Given the description of an element on the screen output the (x, y) to click on. 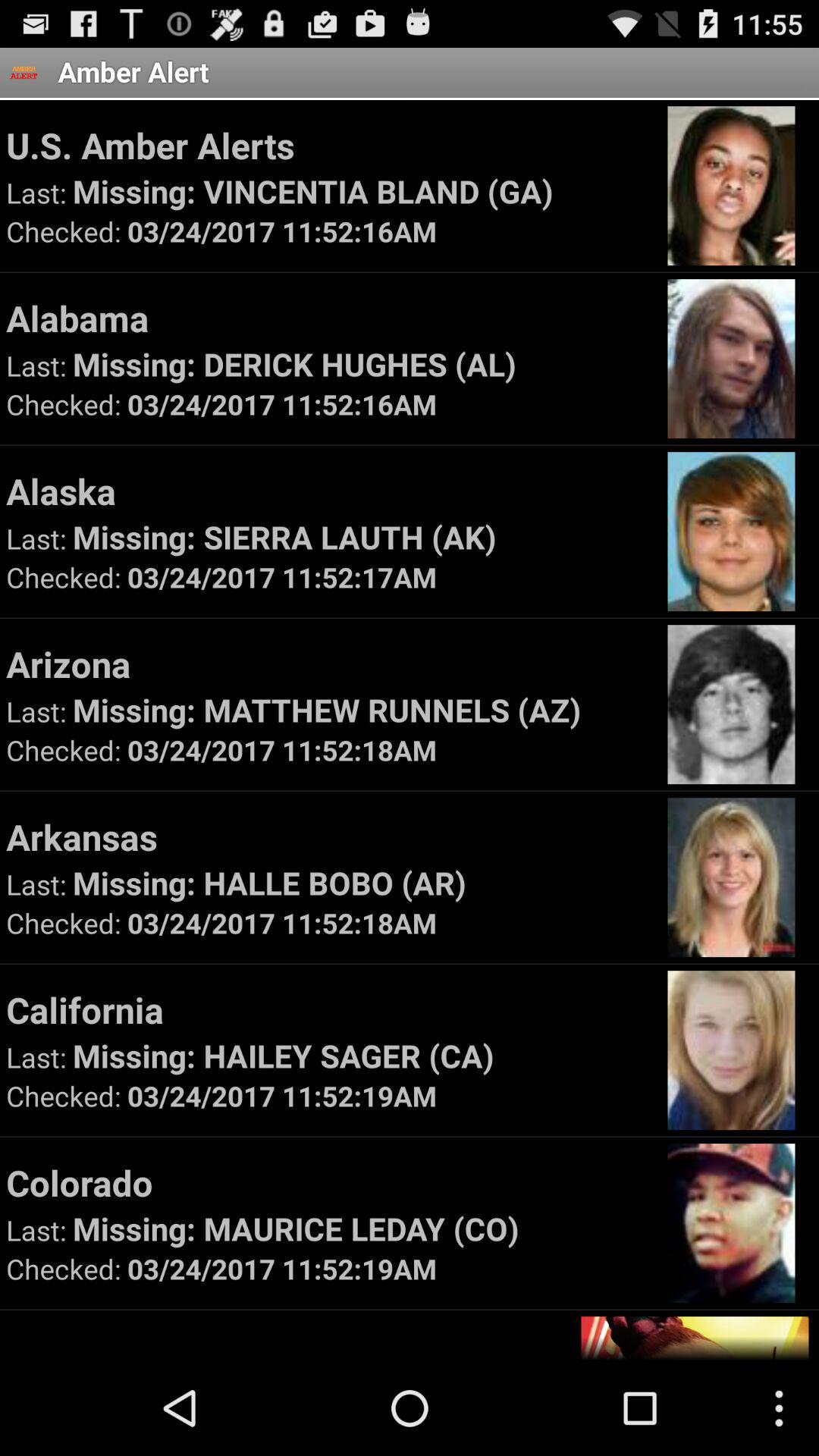
scroll to colorado (329, 1182)
